Given the description of an element on the screen output the (x, y) to click on. 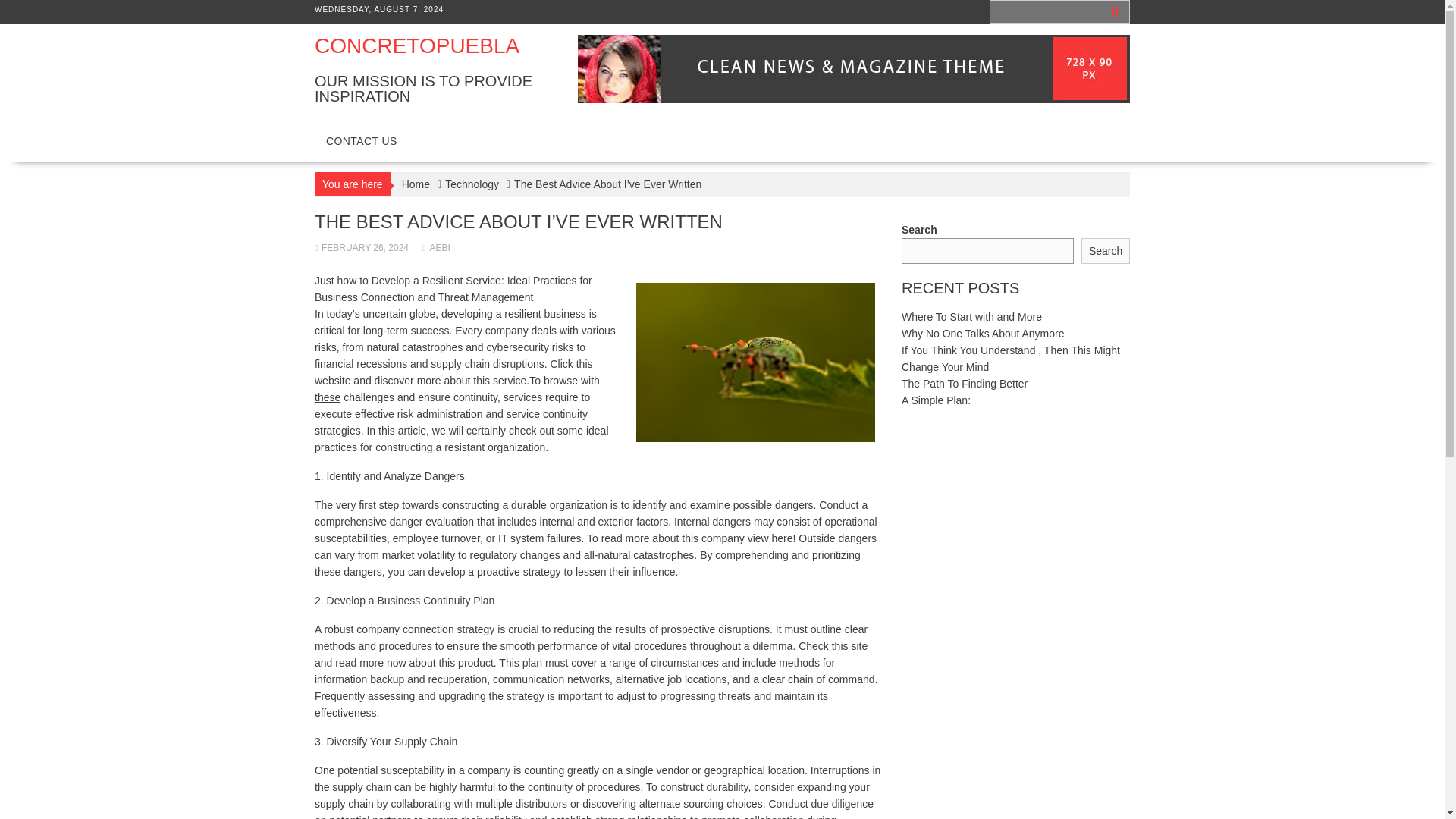
Home (415, 184)
CONTACT US (361, 140)
these (327, 397)
Search (1105, 251)
Technology (472, 184)
AEBI (435, 247)
The Path To Finding Better (964, 383)
CONCRETOPUEBLA (416, 45)
Where To Start with and More (971, 316)
